Given the description of an element on the screen output the (x, y) to click on. 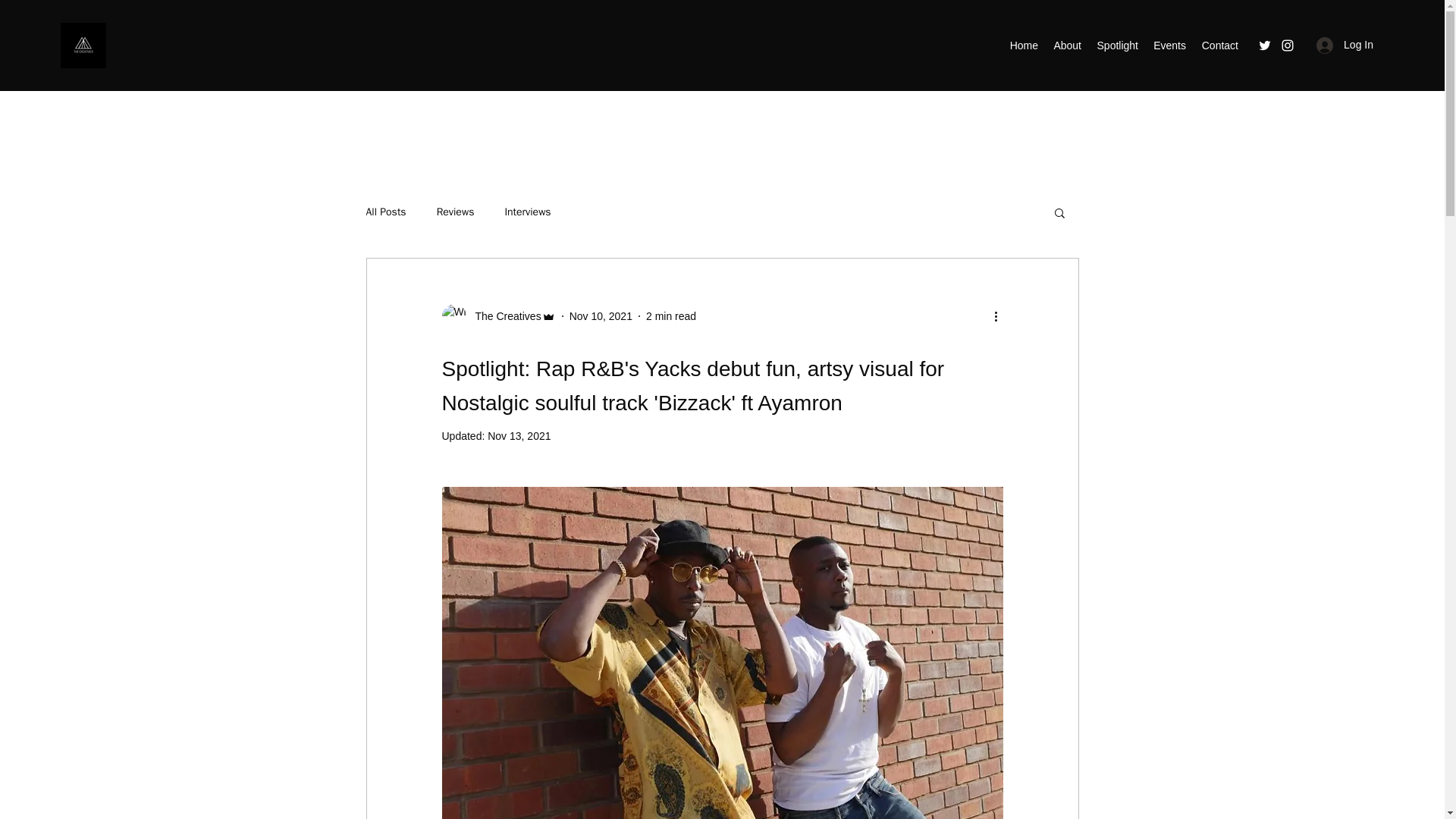
Contact (1219, 45)
Nov 10, 2021 (600, 315)
Events (1169, 45)
Reviews (455, 212)
Spotlight (1117, 45)
The Creatives (497, 315)
Interviews (526, 212)
2 min read (670, 315)
About (1067, 45)
Home (1023, 45)
All Posts (385, 212)
Log In (1345, 44)
Nov 13, 2021 (518, 435)
The Creatives (502, 315)
